Given the description of an element on the screen output the (x, y) to click on. 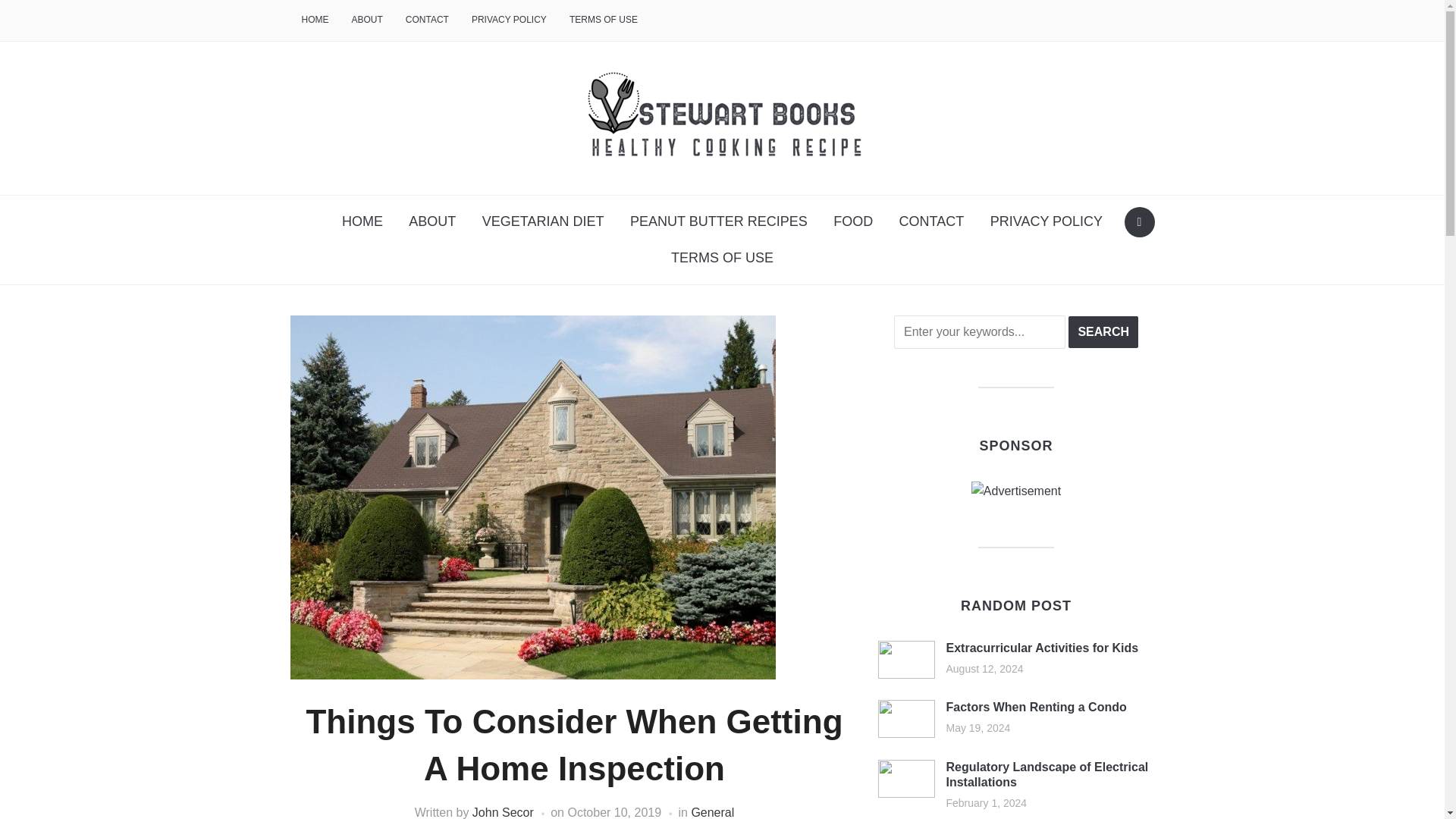
Search (1103, 332)
ABOUT (366, 20)
CONTACT (931, 221)
CONTACT (427, 20)
Search (1103, 332)
John Secor (502, 812)
FOOD (852, 221)
PRIVACY POLICY (1045, 221)
TERMS OF USE (603, 20)
HOME (362, 221)
